Given the description of an element on the screen output the (x, y) to click on. 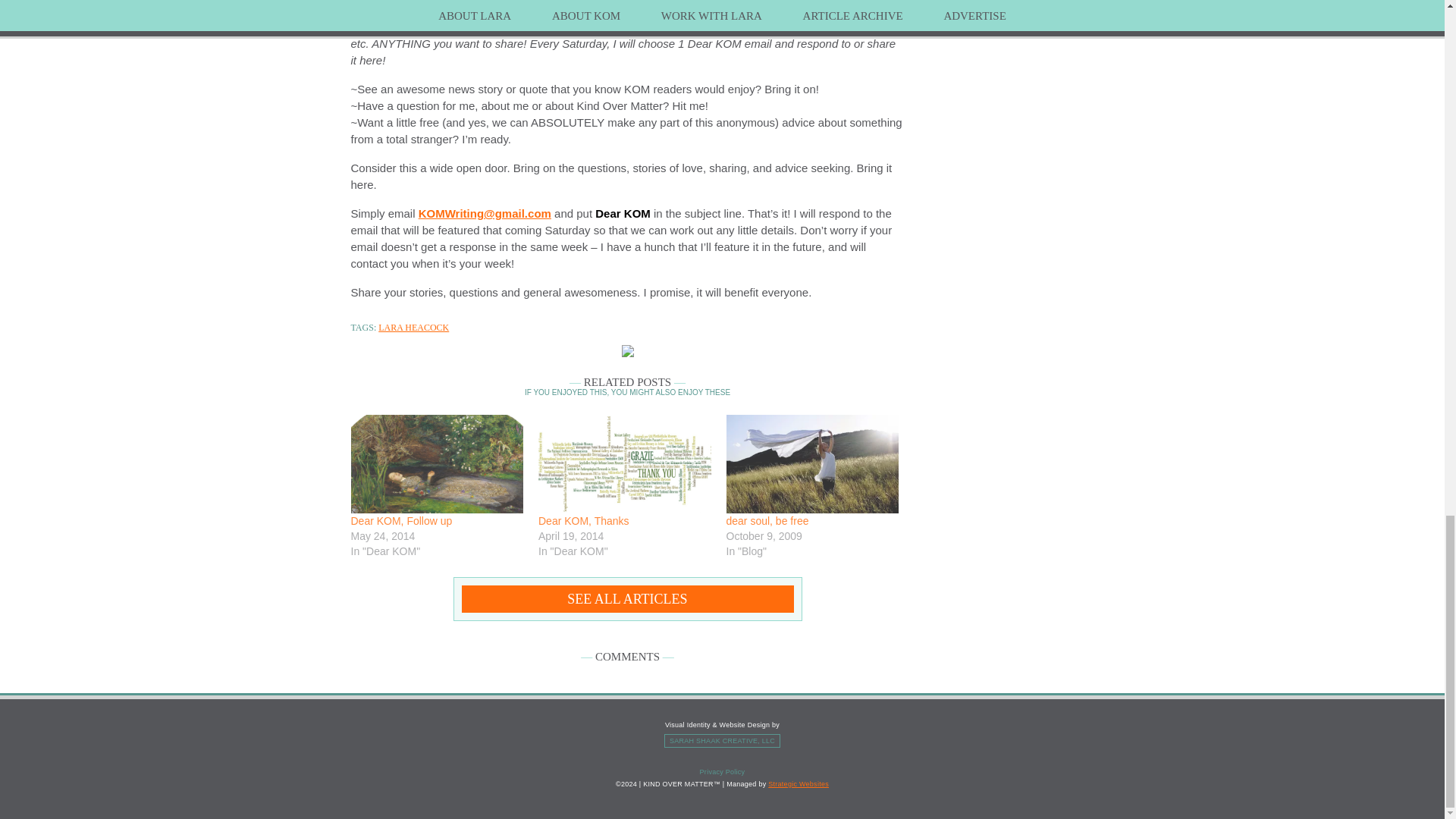
dear soul, be free (767, 521)
dear soul, be free (812, 463)
SEE ALL ARTICLES (627, 598)
Dear KOM, Thanks (583, 521)
dear soul, be free (767, 521)
Dear KOM, Follow up (400, 521)
Dear KOM, Thanks (624, 463)
Dear KOM, Thanks (583, 521)
LARA HEACOCK (413, 327)
Dear KOM, Follow up (436, 463)
Dear KOM, Follow up (400, 521)
